Given the description of an element on the screen output the (x, y) to click on. 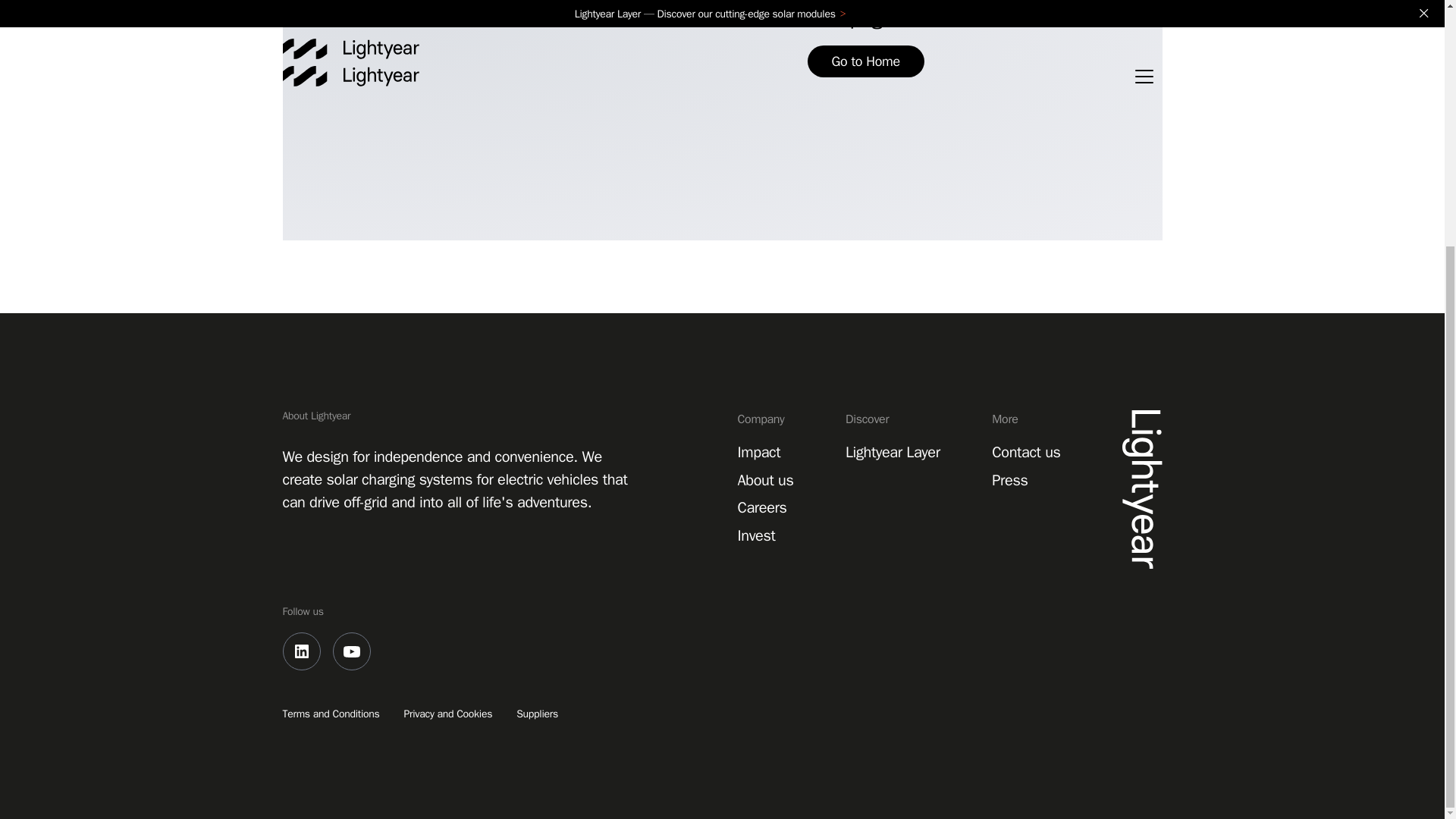
Press (1009, 479)
Go to Home (864, 60)
Suppliers (536, 713)
More (1030, 425)
Privacy and Cookies (448, 713)
Contact us (1025, 452)
Company (769, 425)
Impact (758, 452)
Invest (755, 534)
Terms and Conditions (330, 713)
About us (764, 479)
Discover (897, 425)
Careers (761, 506)
Lightyear Layer (892, 452)
